Given the description of an element on the screen output the (x, y) to click on. 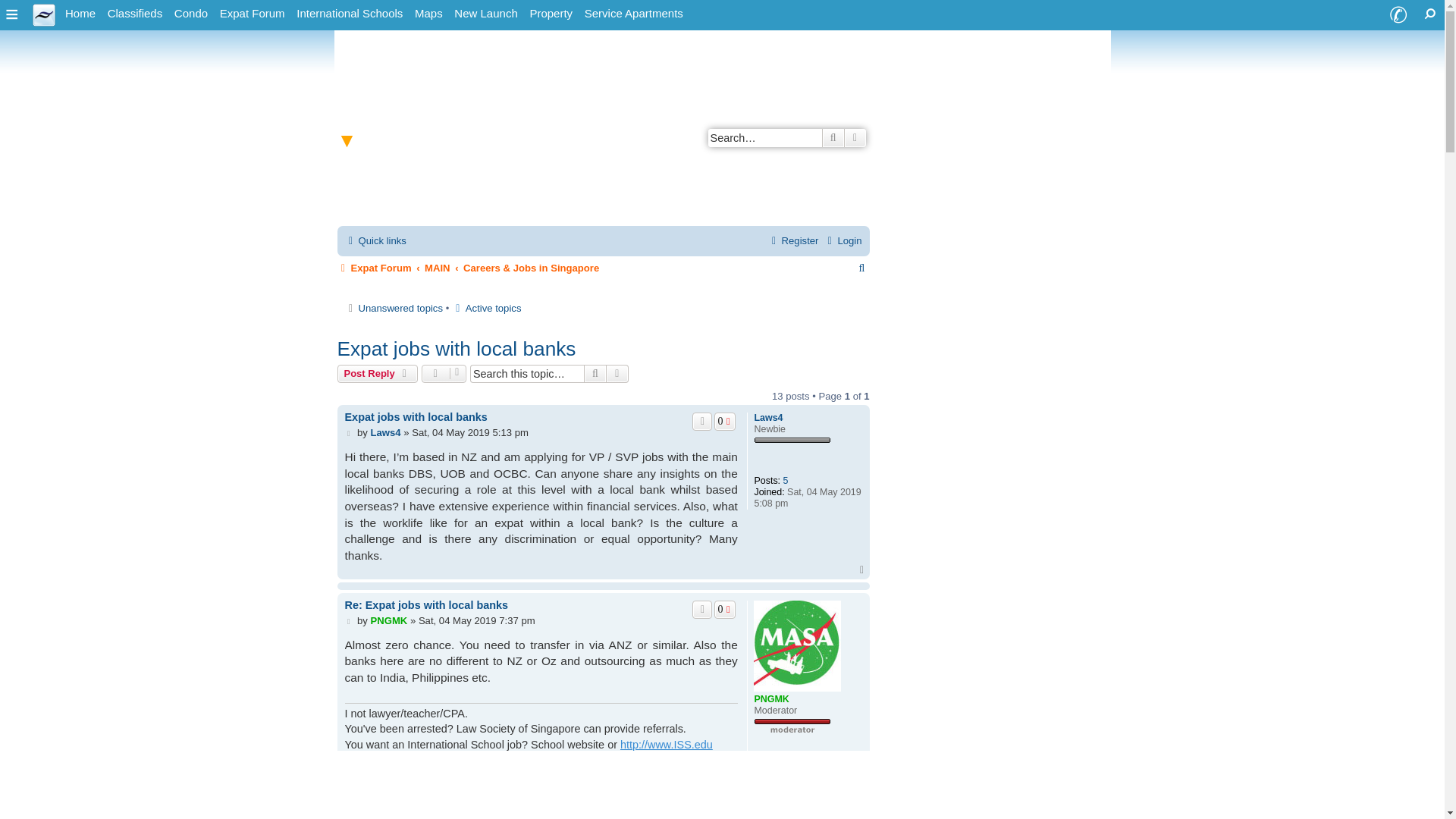
Expat Forum (252, 13)
Classifieds (135, 13)
New Launch (485, 13)
Singapore International Schools (349, 13)
Singapore Street Maps (428, 13)
Service Apartments (633, 13)
Condo (191, 13)
Maps (428, 13)
Singapore Service Apartments (633, 13)
Singapore Expats Forum (252, 13)
